Given the description of an element on the screen output the (x, y) to click on. 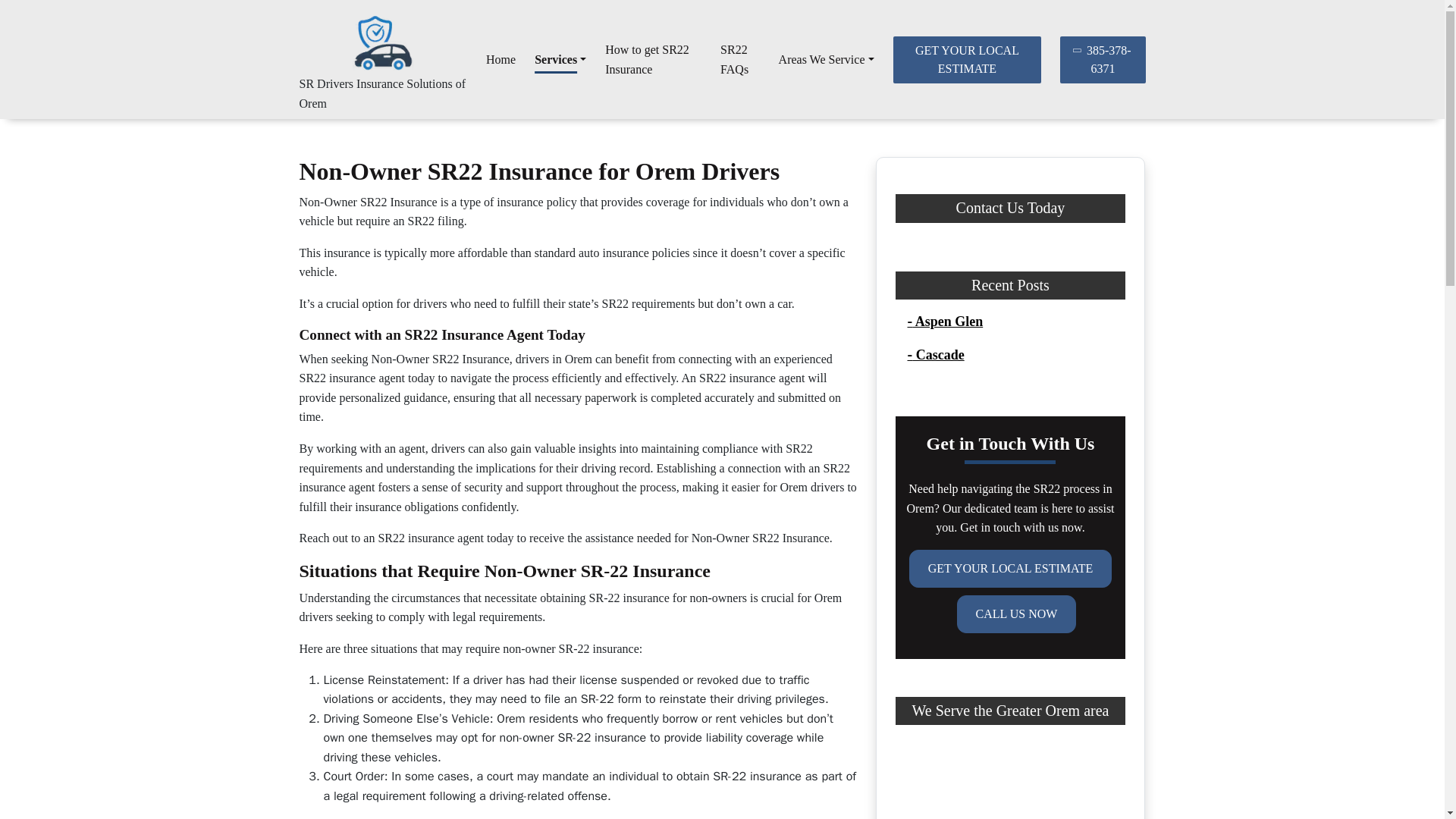
SR Drivers Insurance Solutions of Orem (381, 92)
Services (560, 60)
Home (500, 60)
How to get SR22 Insurance (653, 59)
CALL US NOW (1016, 614)
385-378-6371 (1101, 59)
Services (560, 60)
How to get SR22 Insurance (653, 59)
Areas We Service (826, 60)
- Cascade (935, 354)
